Given the description of an element on the screen output the (x, y) to click on. 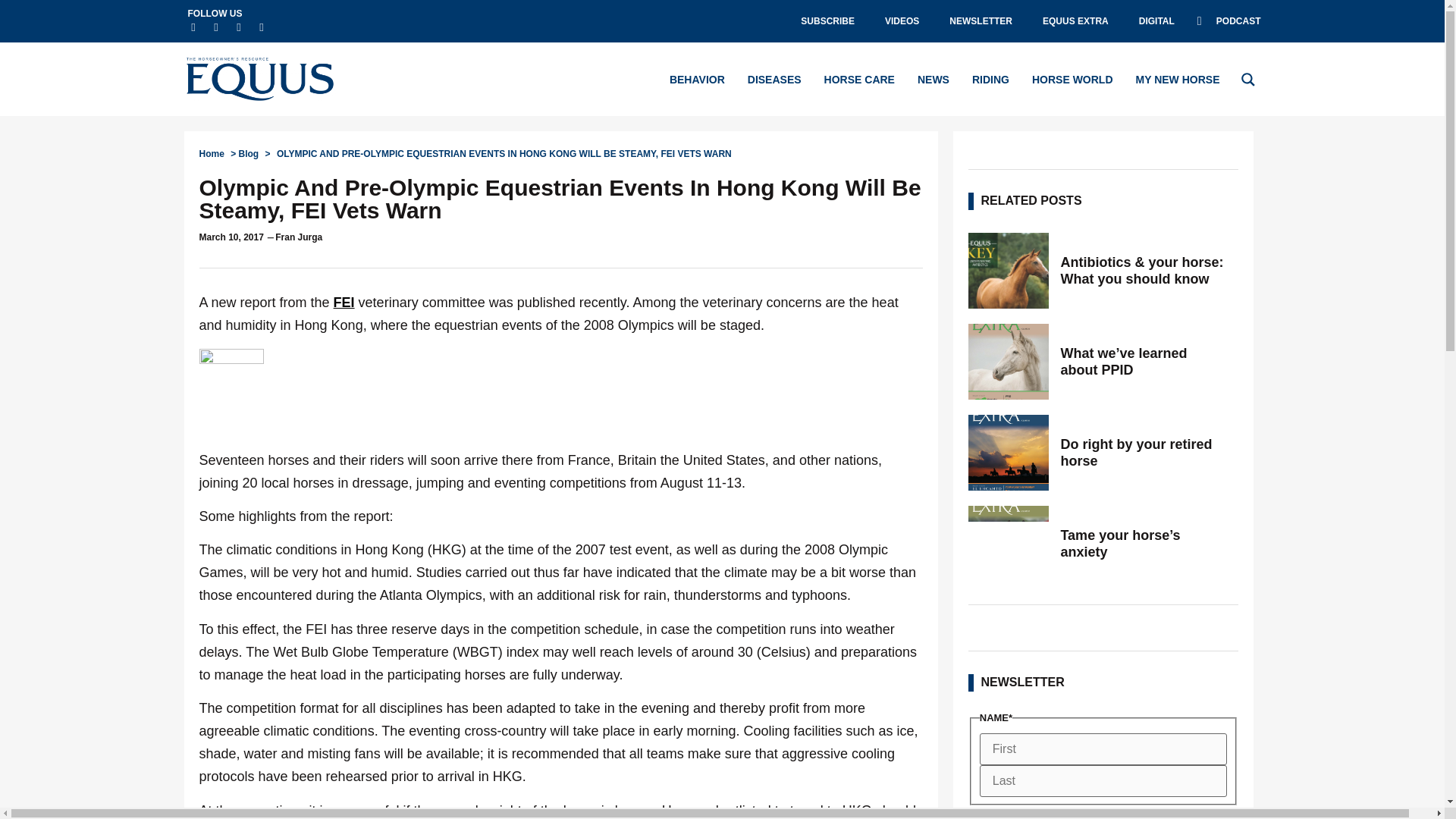
Do right by your retired horse (1008, 452)
PODCAST (1228, 20)
EQUUS EXTRA (1075, 21)
DISEASES (775, 79)
SUBSCRIBE (827, 21)
NEWSLETTER (980, 21)
VIDEOS (901, 21)
BEHAVIOR (697, 79)
Do right by your retired horse (1143, 452)
HORSE CARE (859, 79)
DIGITAL (1156, 21)
NEWS (933, 79)
